Given the description of an element on the screen output the (x, y) to click on. 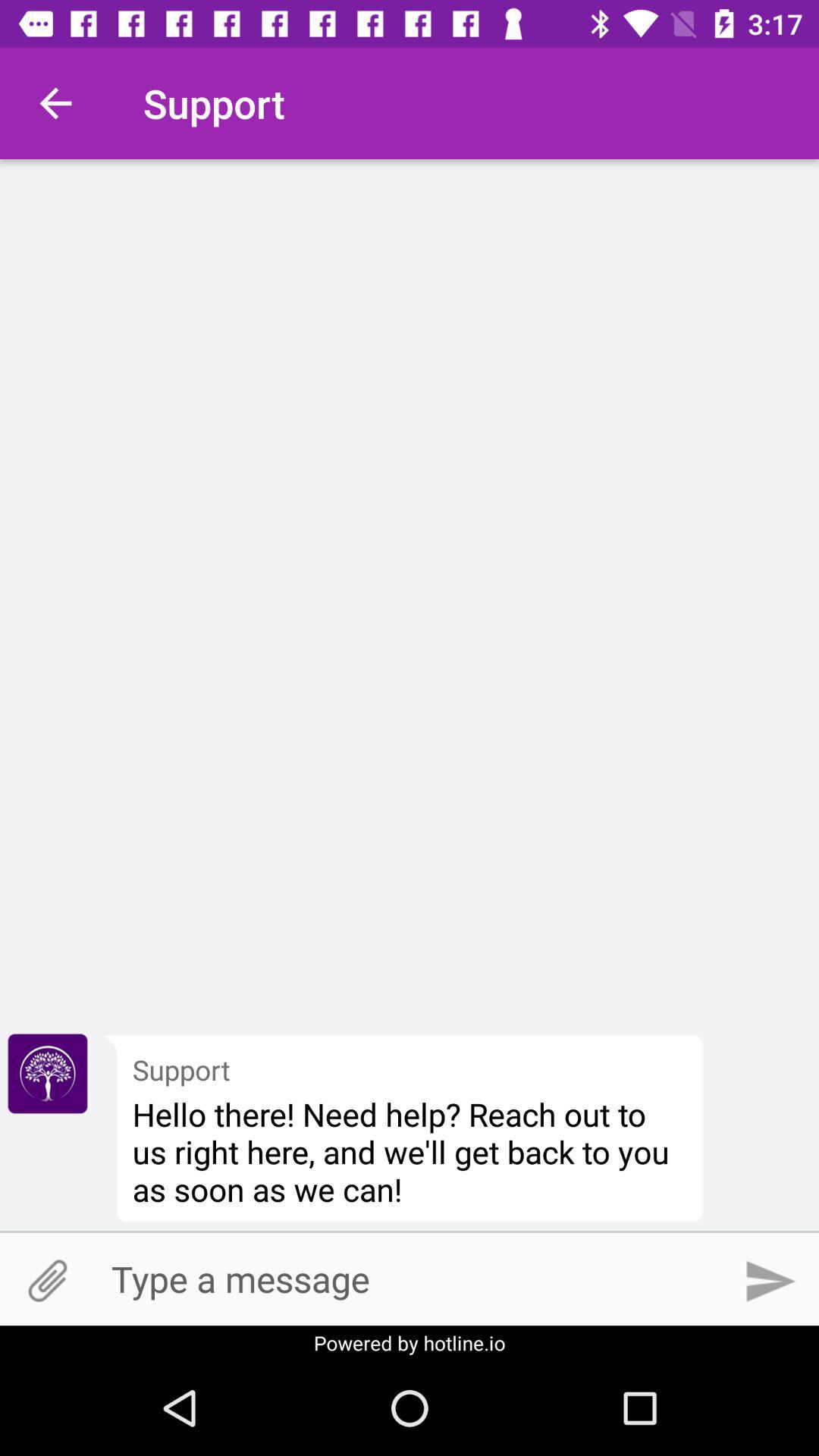
launch the item below the support item (409, 1151)
